Given the description of an element on the screen output the (x, y) to click on. 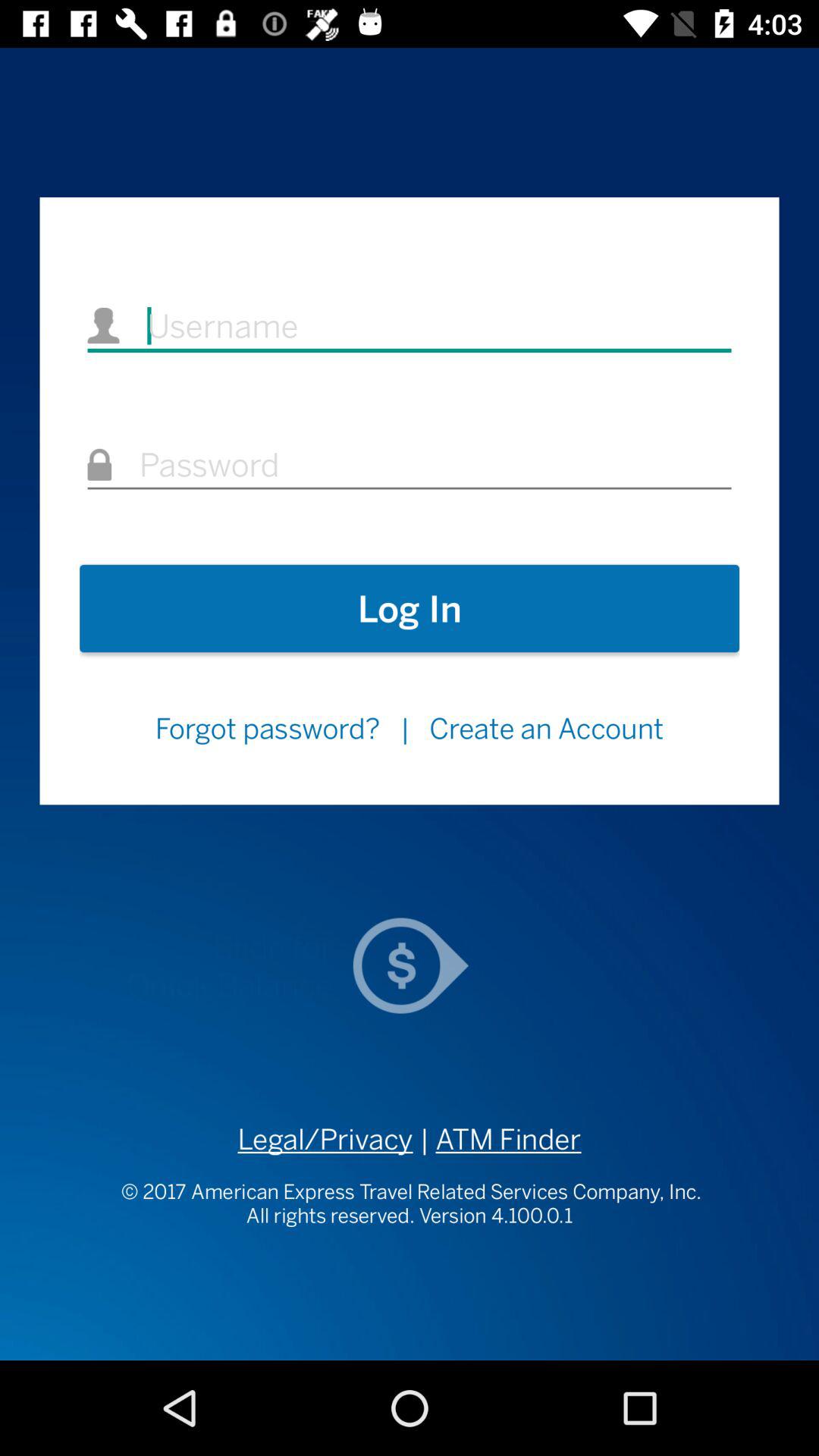
turn off the forgot password? item (266, 728)
